Given the description of an element on the screen output the (x, y) to click on. 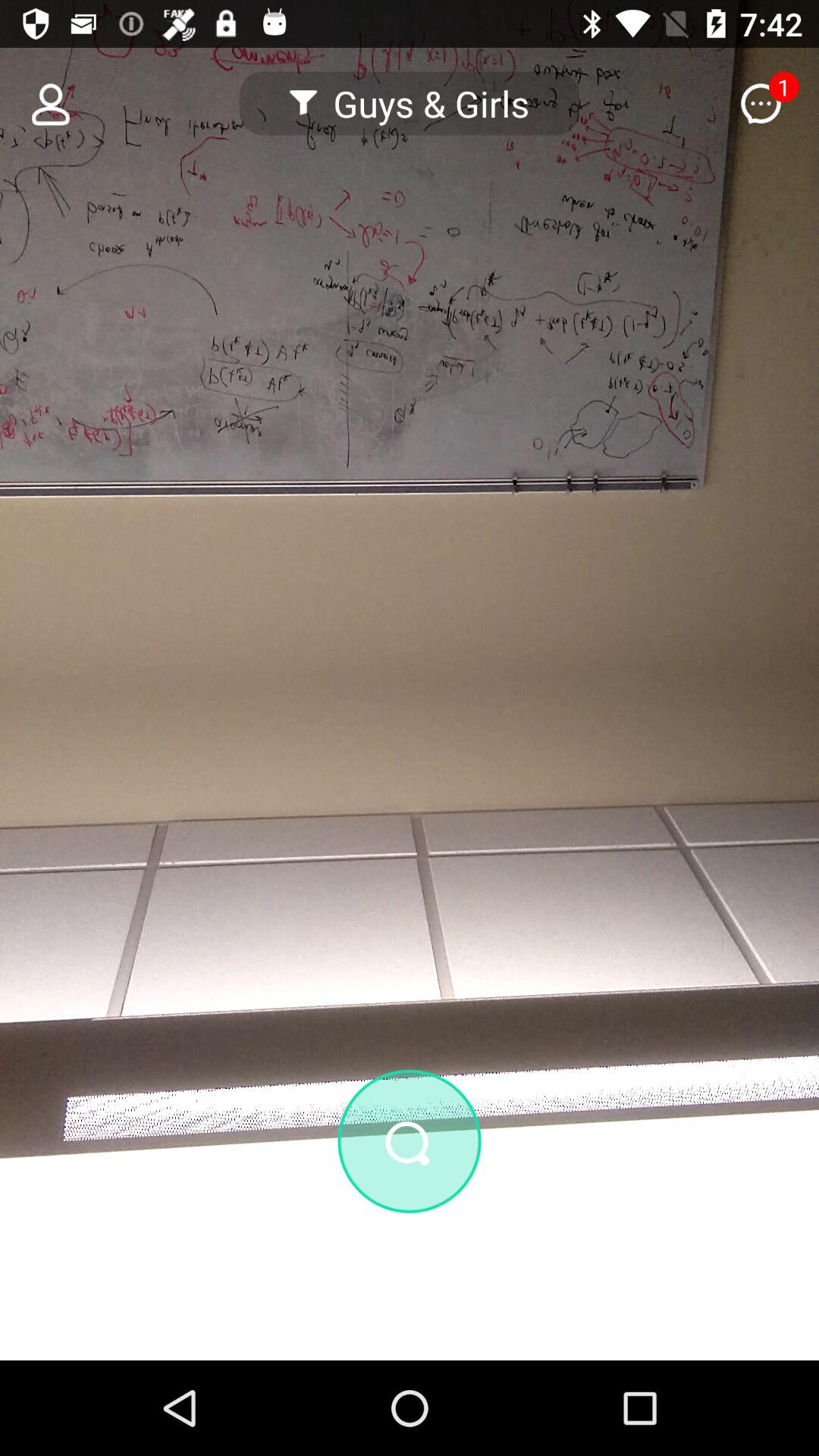
launch the icon at the top left corner (41, 103)
